Given the description of an element on the screen output the (x, y) to click on. 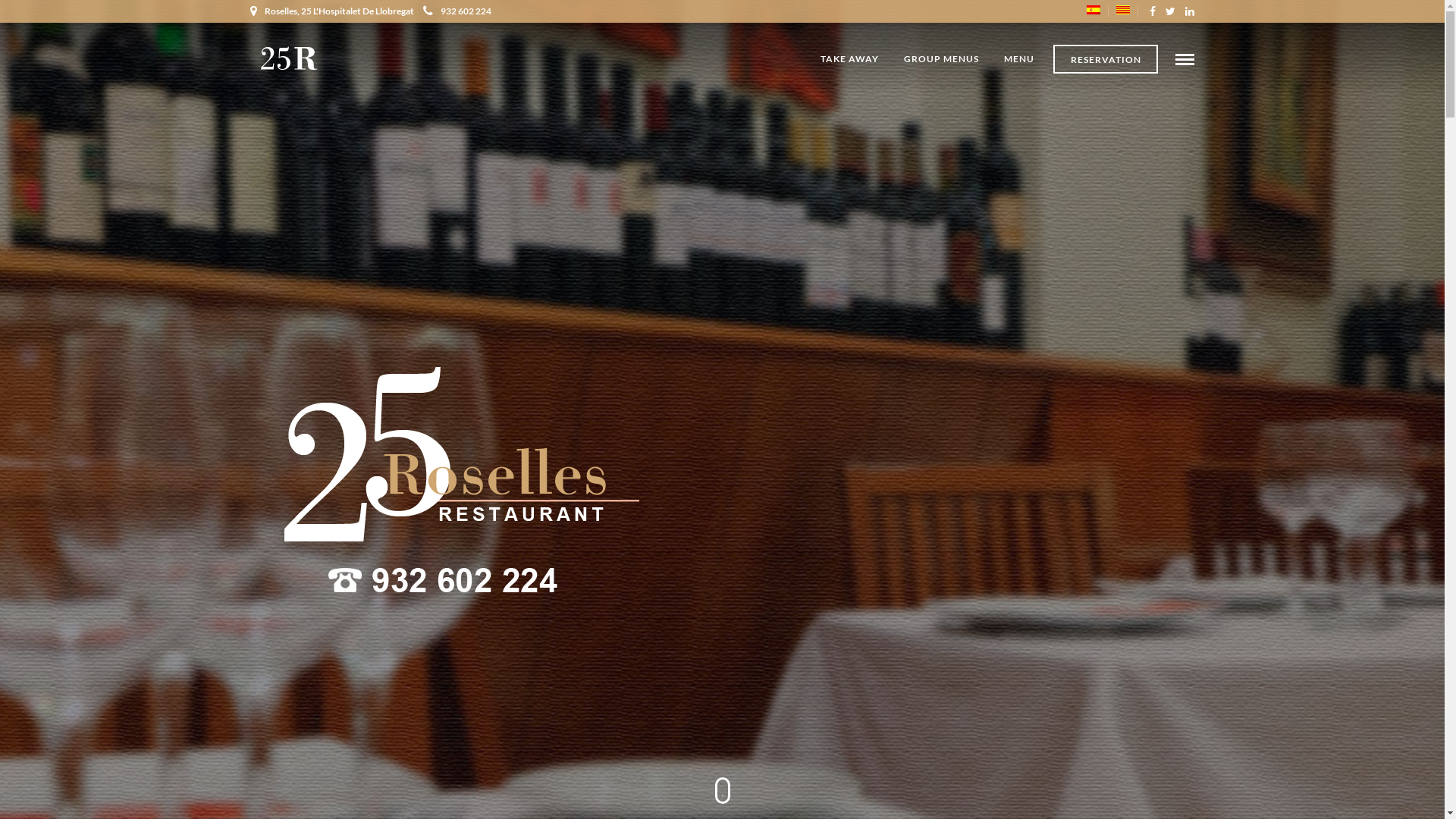
MENU Element type: text (1018, 59)
RESERVATION Element type: text (1105, 59)
GROUP MENUS Element type: text (941, 59)
TAKE AWAY Element type: text (849, 59)
932 602 224 Element type: text (457, 10)
Linkedin Element type: hover (1189, 11)
